Given the description of an element on the screen output the (x, y) to click on. 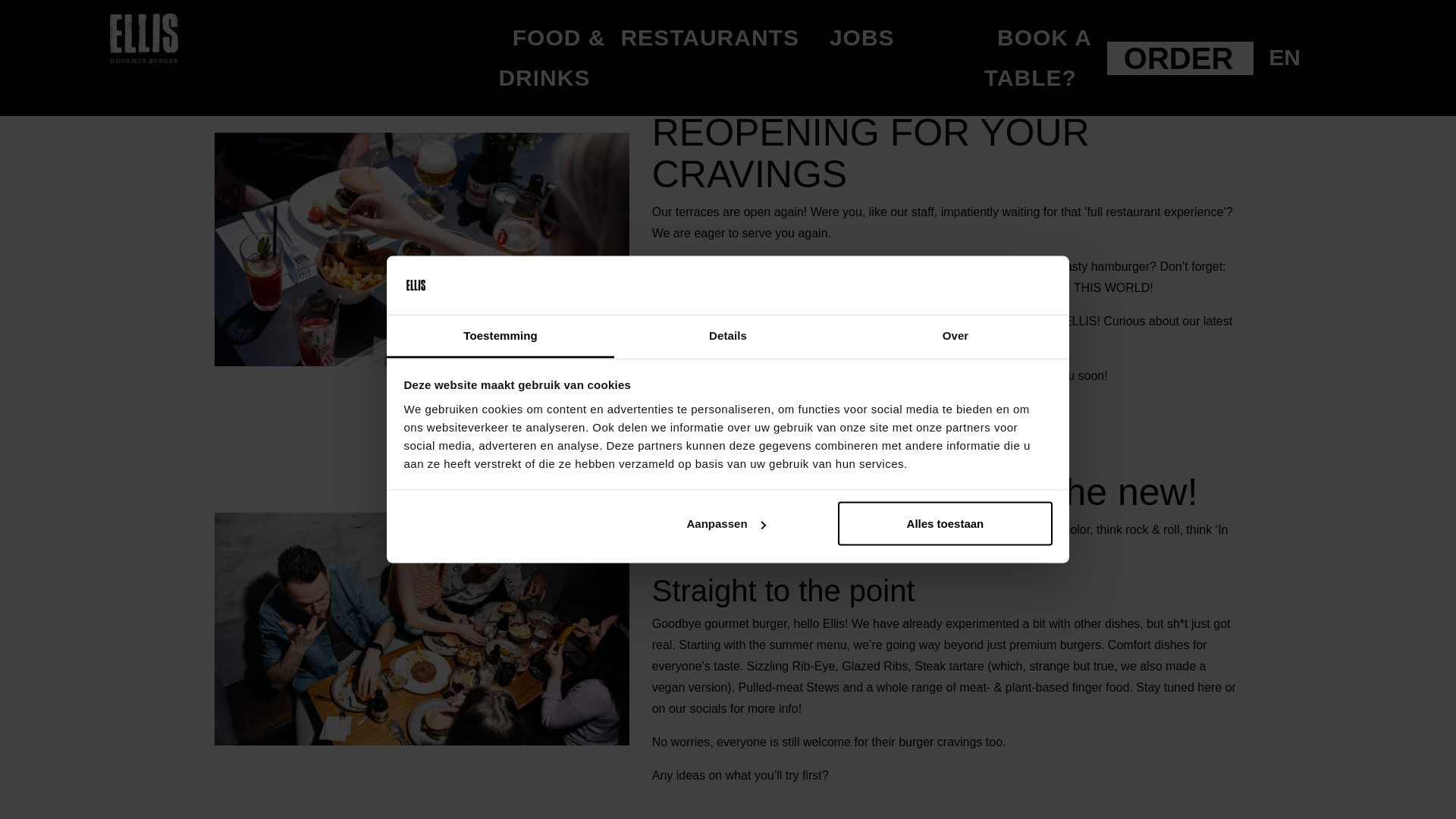
Details (727, 335)
Toestemming (500, 335)
Ellis terrace (421, 248)
Over (954, 335)
Come as you are (421, 628)
